Given the description of an element on the screen output the (x, y) to click on. 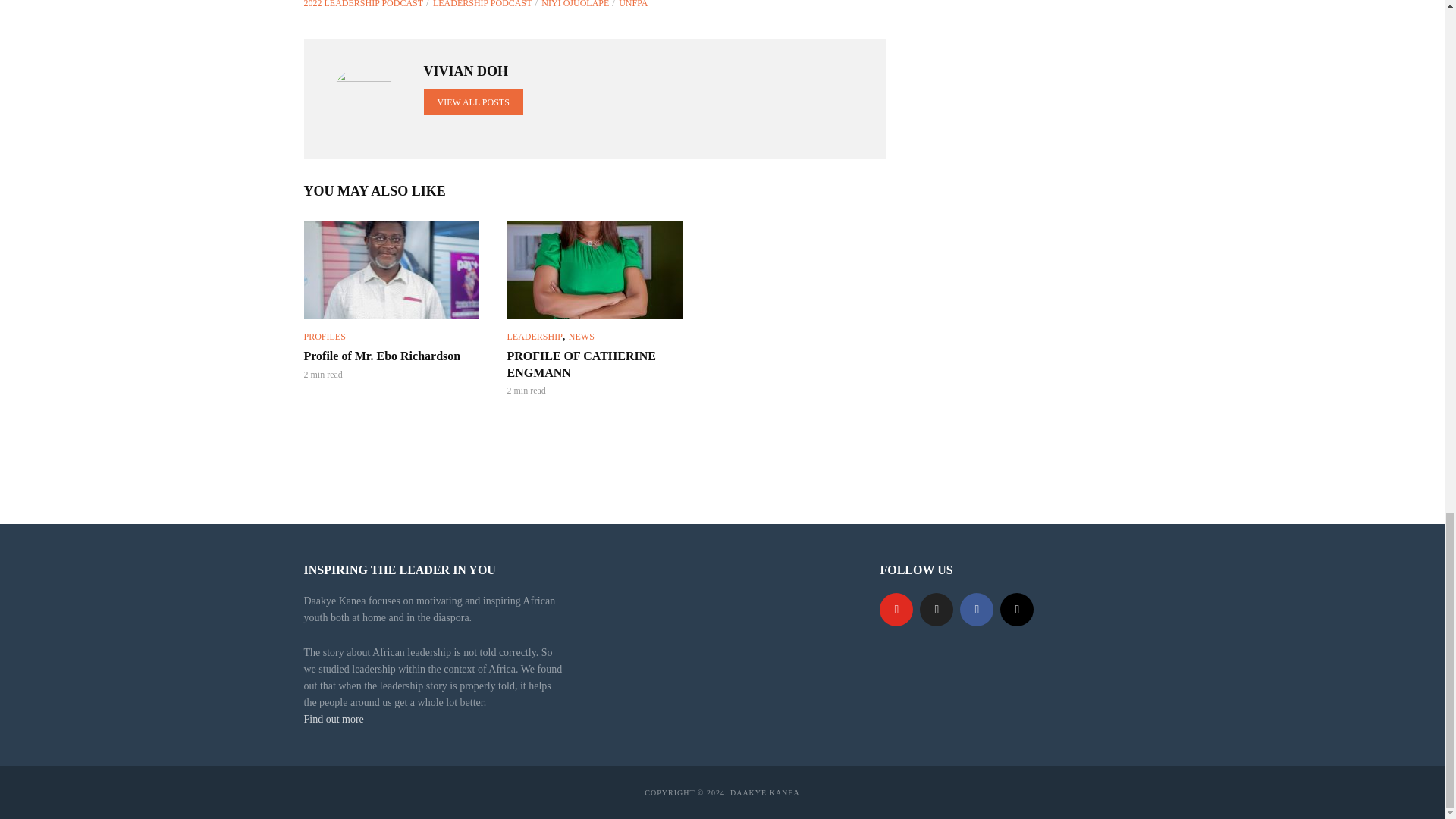
YouTube (895, 609)
Instagram (1016, 609)
Facebook (975, 609)
Profile of Mr. Ebo Richardson (390, 269)
PROFILE OF CATHERINE ENGMANN (594, 269)
